Given the description of an element on the screen output the (x, y) to click on. 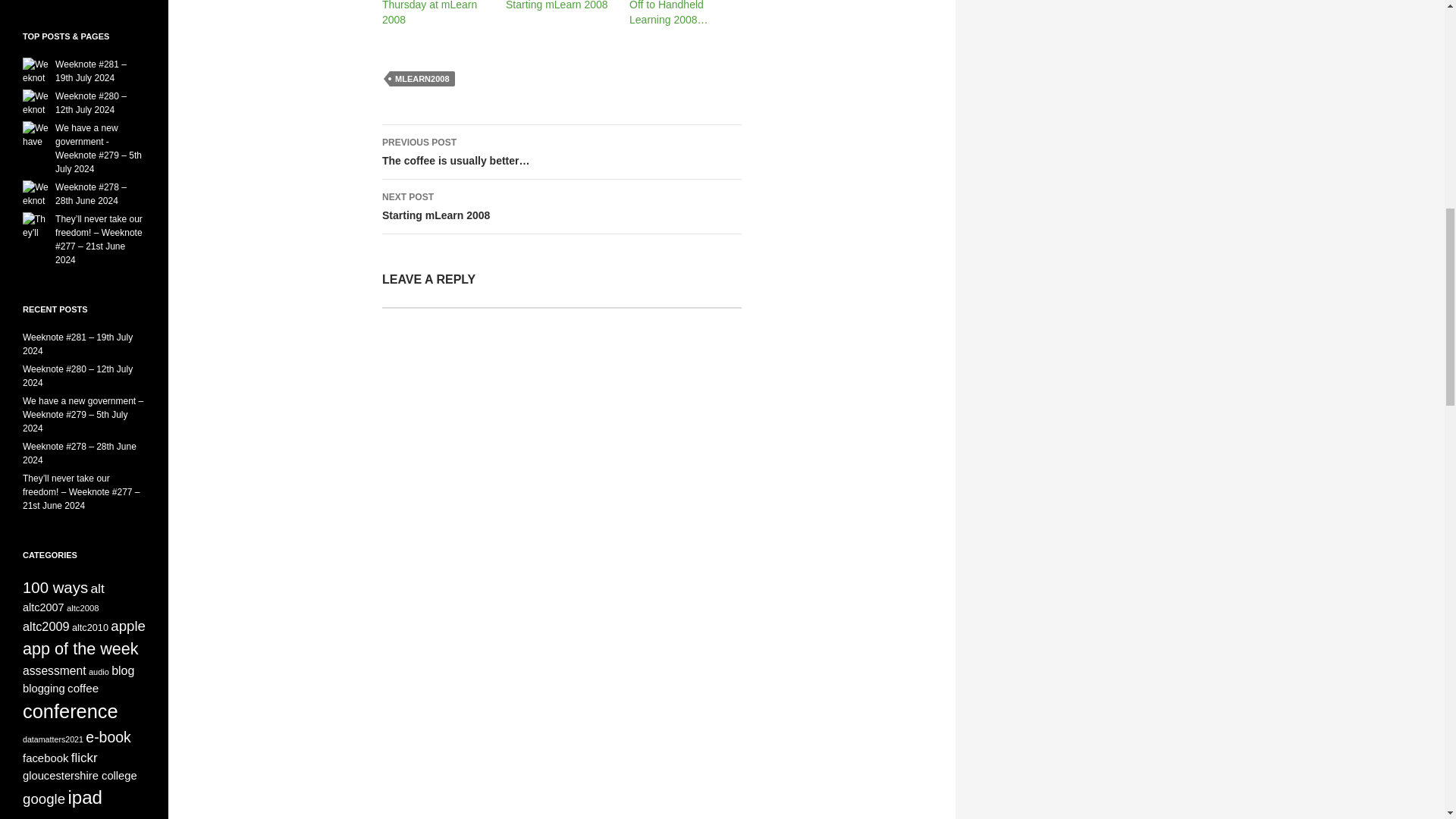
Starting mLearn 2008 (556, 5)
MLEARN2008 (422, 78)
Starting mLearn 2008 (561, 206)
Thursday at mLearn 2008 (556, 5)
Comment Form (429, 12)
Thursday at mLearn 2008 (561, 470)
